Given the description of an element on the screen output the (x, y) to click on. 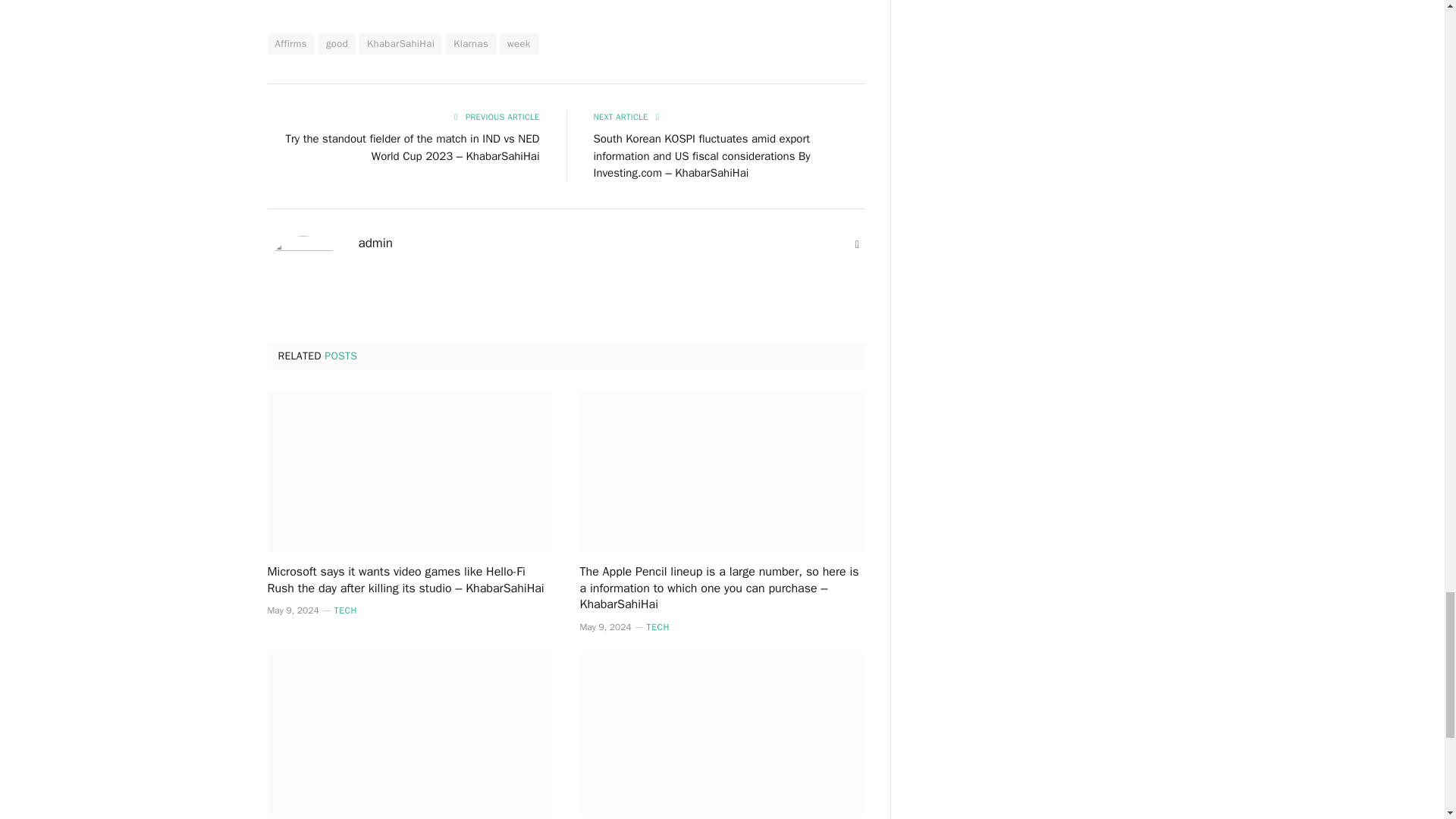
Affirms (290, 43)
week (518, 43)
Website (856, 244)
KhabarSahiHai (400, 43)
Posts by admin (375, 242)
Klarnas (470, 43)
good (336, 43)
